Given the description of an element on the screen output the (x, y) to click on. 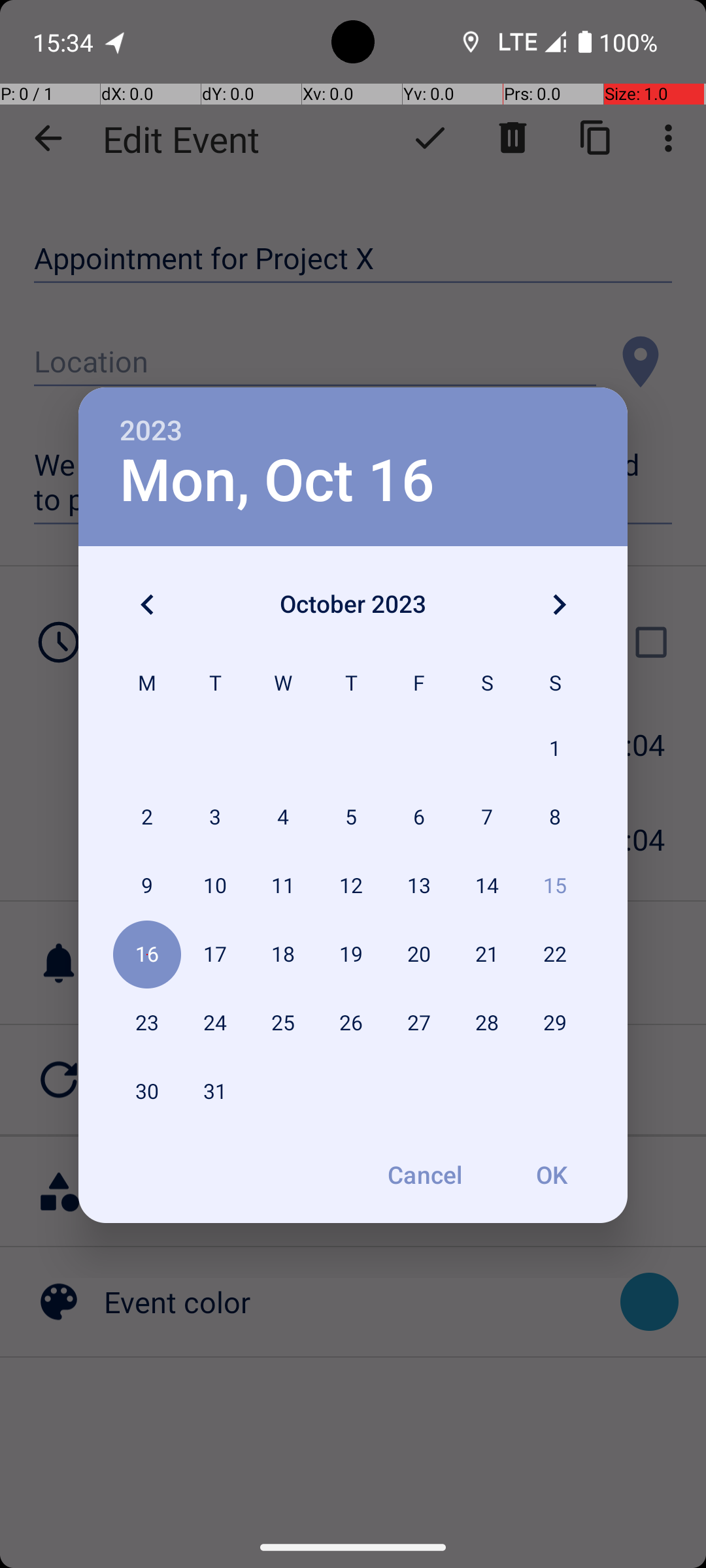
Mon, Oct 16 Element type: android.widget.TextView (276, 480)
